Given the description of an element on the screen output the (x, y) to click on. 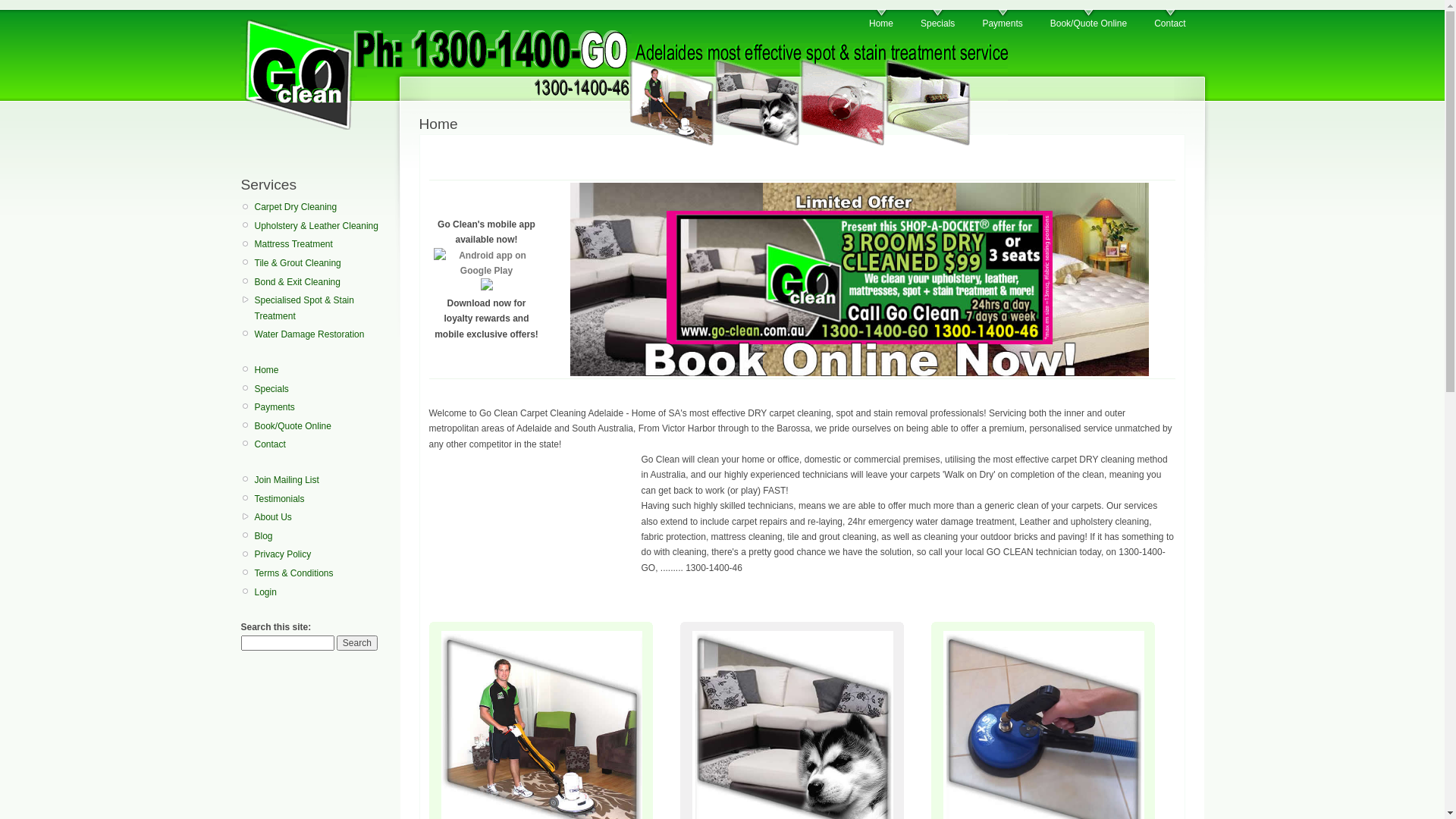
Specials Element type: text (937, 20)
Payments Element type: text (321, 406)
Tile & Grout Cleaning Element type: text (321, 262)
Mattress Treatment Element type: text (321, 243)
Search Element type: text (356, 642)
Join Mailing List Element type: text (321, 479)
Carpet Dry Cleaning Element type: text (321, 206)
Contact Element type: text (321, 443)
Privacy Policy Element type: text (321, 553)
Specialised Spot & Stain Treatment Element type: text (321, 307)
Book/Quote Online Element type: text (1088, 20)
Enter the terms you wish to search for. Element type: hover (287, 642)
Blog Element type: text (321, 535)
Terms & Conditions Element type: text (321, 572)
Home Element type: text (881, 20)
Home Element type: text (321, 369)
Book/Quote Online Element type: text (321, 425)
Specials Element type: text (321, 388)
Bond & Exit Cleaning Element type: text (321, 281)
Testimonials Element type: text (321, 498)
Login Element type: text (321, 591)
Water Damage Restoration Element type: text (321, 334)
About Us Element type: text (321, 516)
Upholstery & Leather Cleaning Element type: text (321, 225)
Payments Element type: text (1002, 20)
Contact Element type: text (1169, 20)
